Given the description of an element on the screen output the (x, y) to click on. 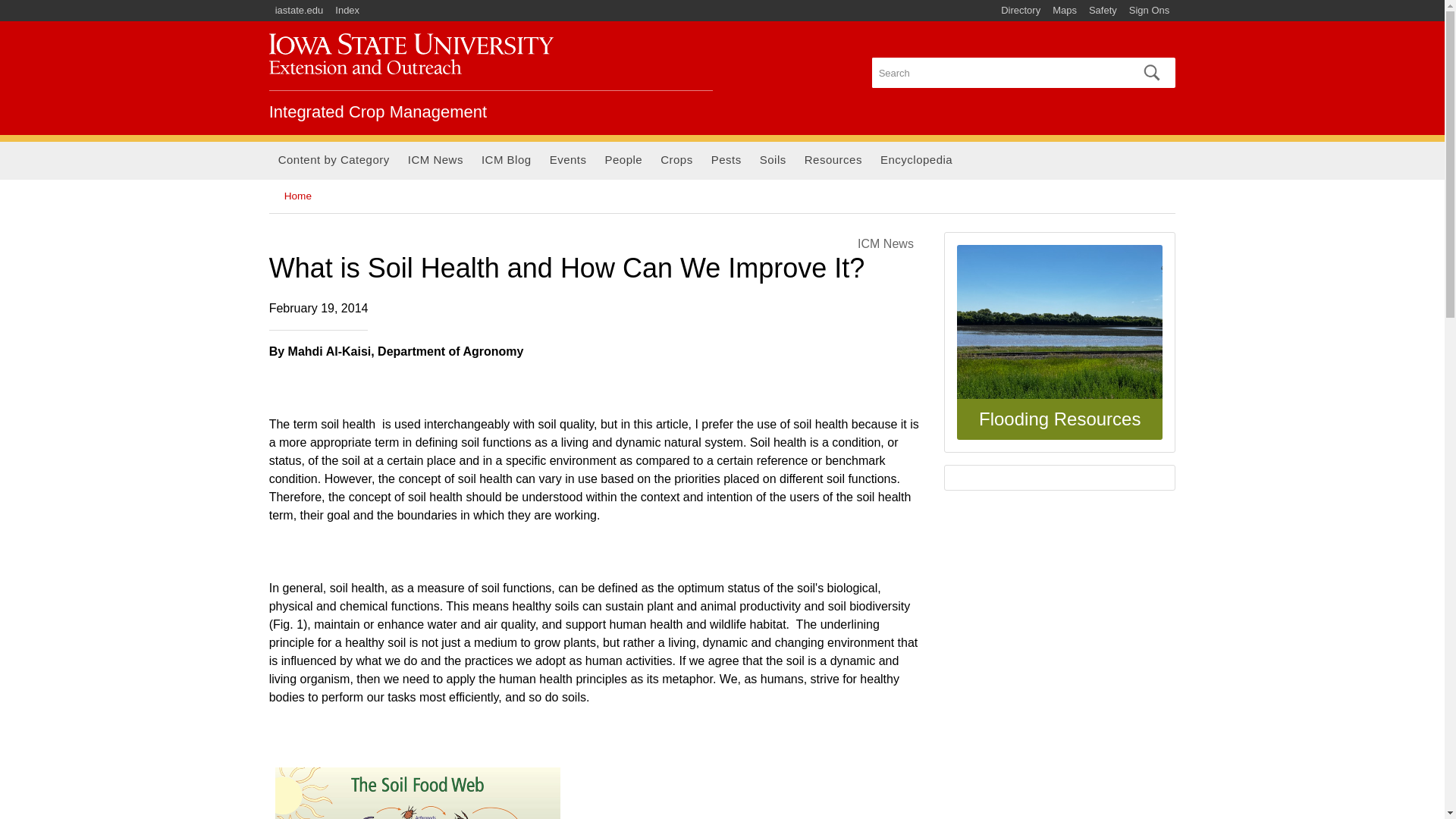
Iowa State University Home Page (299, 10)
Home (377, 111)
Sign Ons (1148, 10)
Integrated Crop Management (411, 53)
Maps (1064, 10)
Directory (1020, 10)
Integrated Crop Management (377, 111)
Enter the terms you wish to search for. (998, 72)
iastate.edu (299, 10)
